Given the description of an element on the screen output the (x, y) to click on. 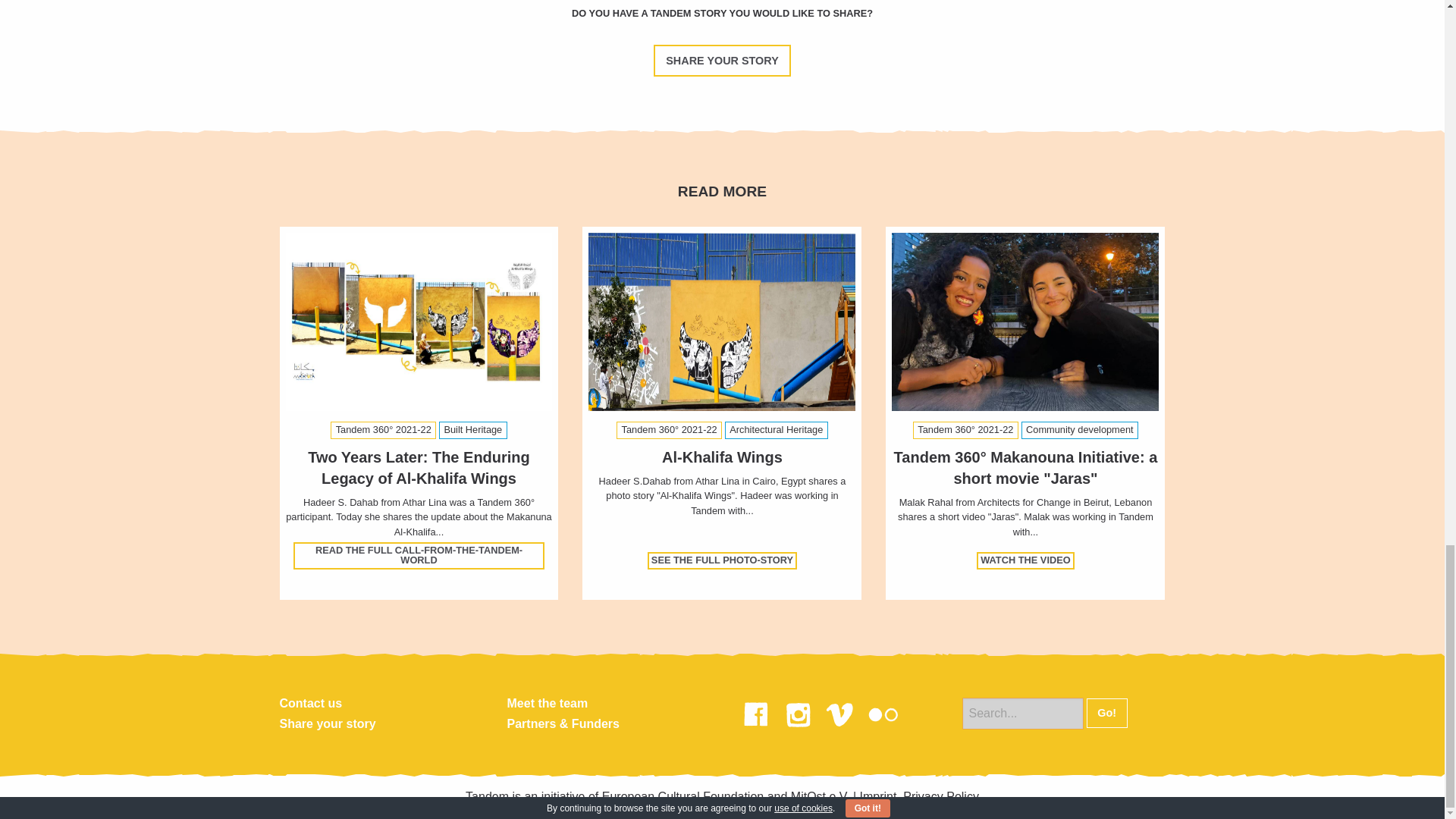
Go! (1106, 713)
READ THE FULL CALL-FROM-THE-TANDEM-WORLD (419, 555)
SHARE YOUR STORY (721, 60)
Two Years Later: The Enduring Legacy of Al-Khalifa Wings (418, 467)
Navigate to Submit a story (721, 60)
Go! (1106, 713)
Built Heritage (472, 429)
